Given the description of an element on the screen output the (x, y) to click on. 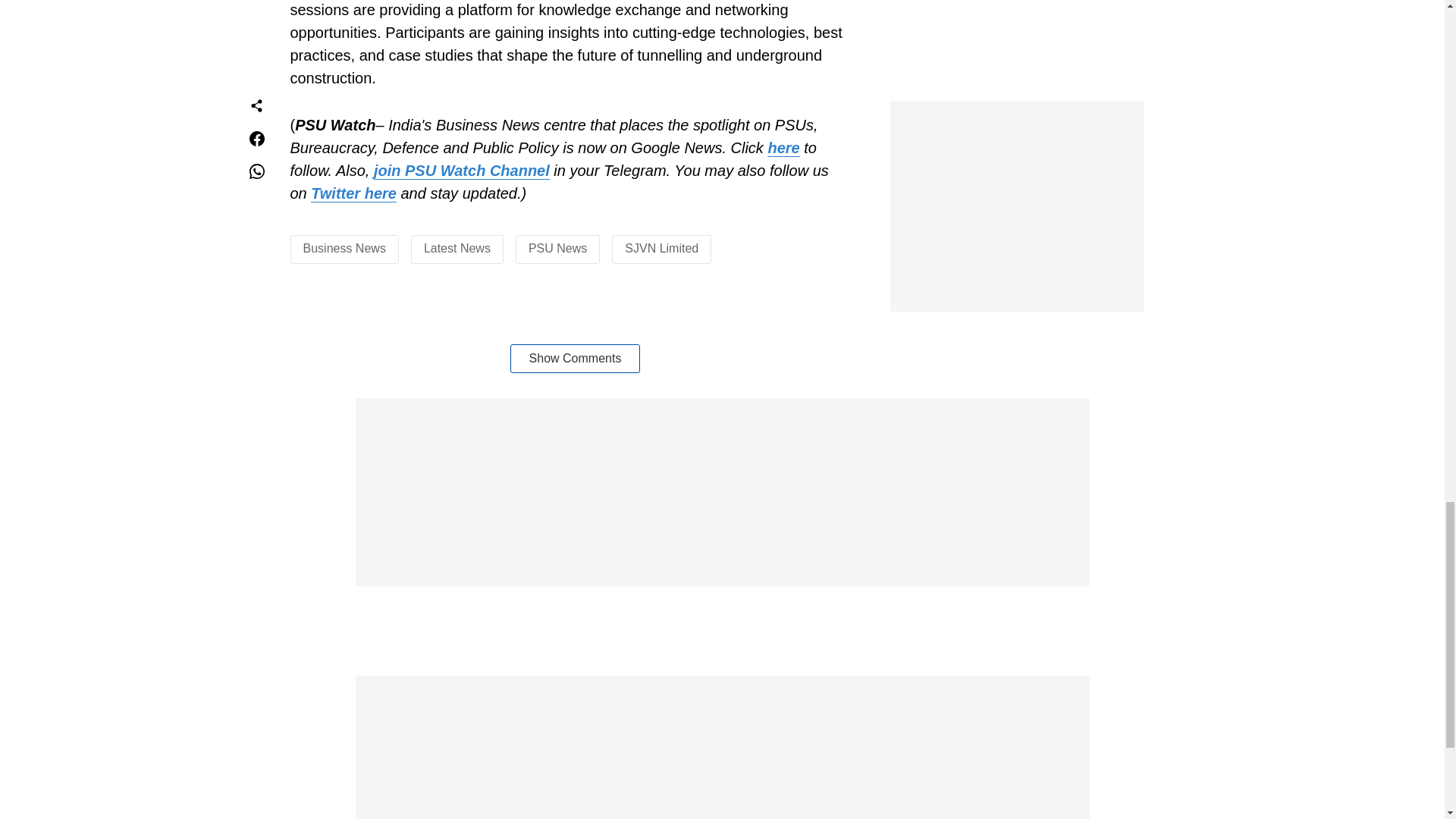
join PSU Watch Channel (462, 170)
Twitter here (353, 193)
here (783, 148)
Business News (343, 247)
Latest News (456, 247)
